Given the description of an element on the screen output the (x, y) to click on. 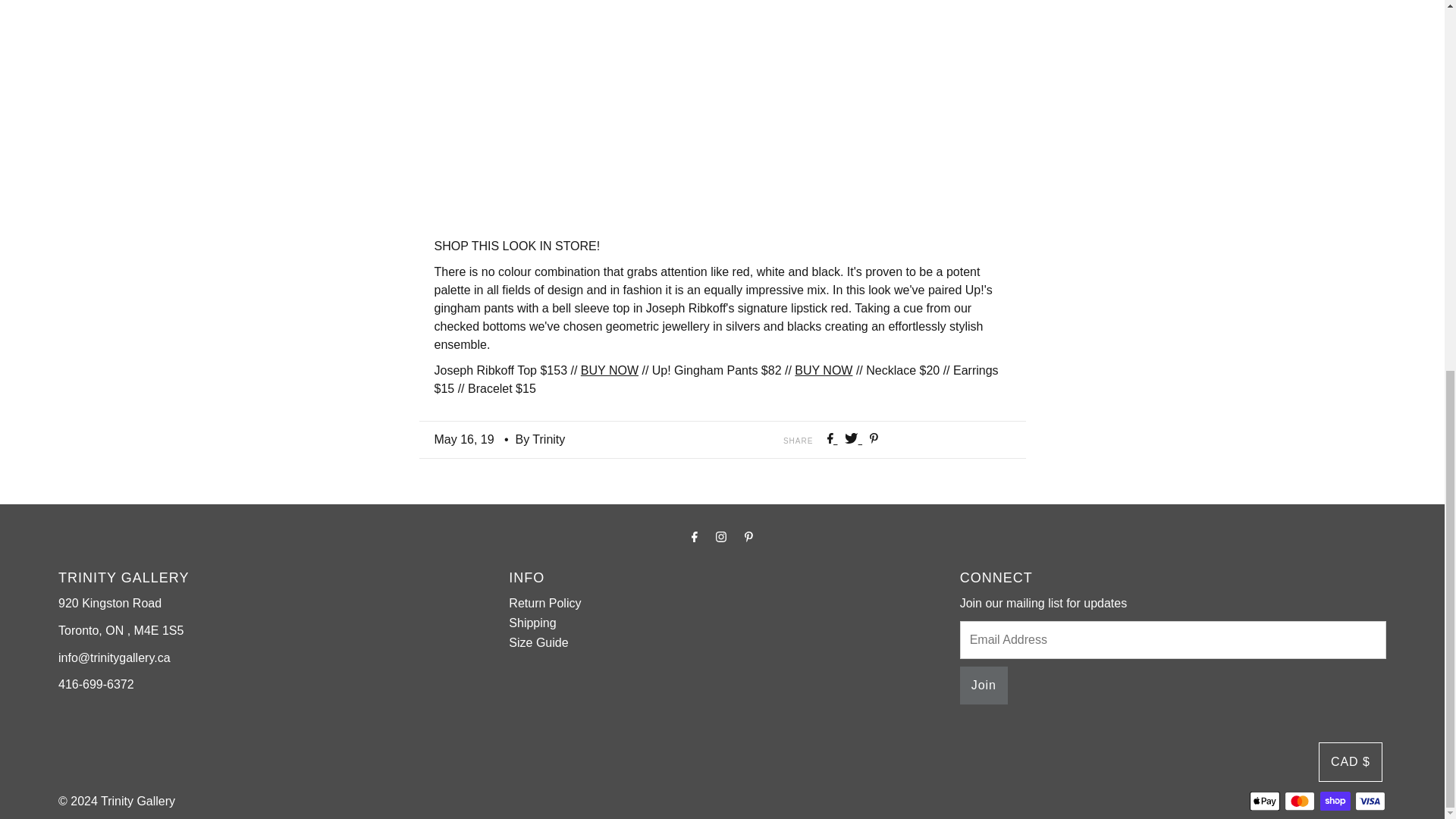
Mastercard (1299, 800)
Join (983, 685)
Apple Pay (1264, 800)
Share on Twitter (852, 439)
Visa (1370, 800)
Shop Pay (1335, 800)
